Given the description of an element on the screen output the (x, y) to click on. 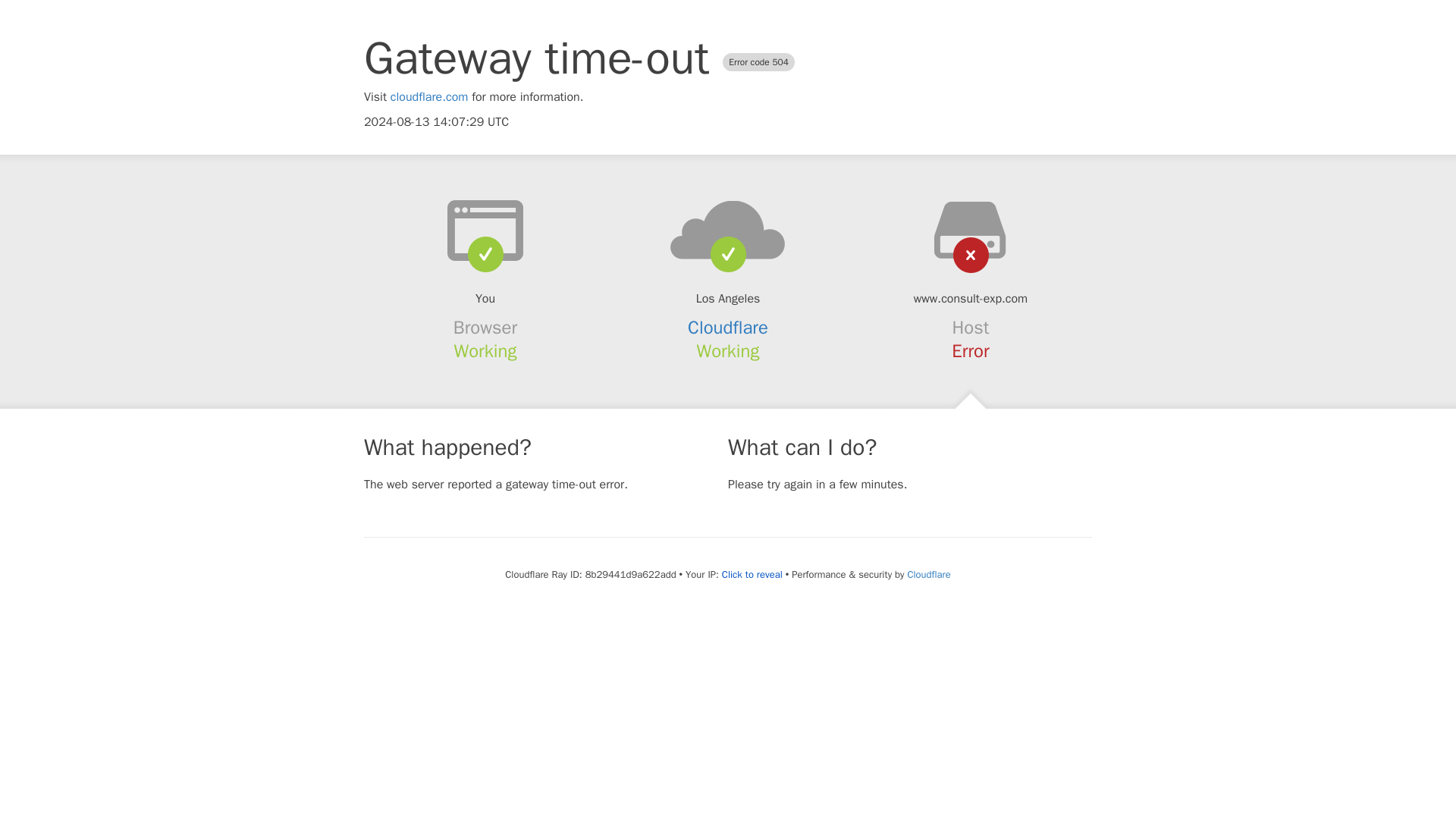
cloudflare.com (429, 96)
Cloudflare (727, 327)
Cloudflare (928, 574)
Click to reveal (752, 574)
